Given the description of an element on the screen output the (x, y) to click on. 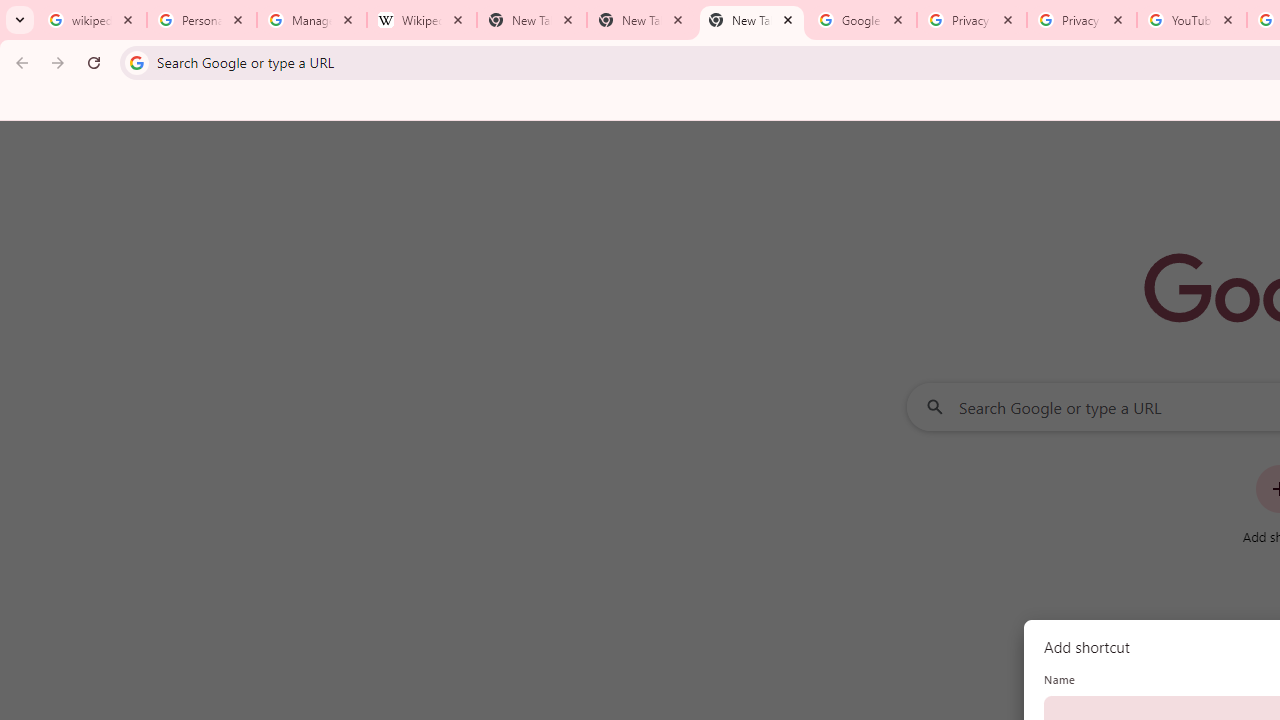
New Tab (752, 20)
YouTube (1191, 20)
Google Drive: Sign-in (861, 20)
New Tab (642, 20)
Wikipedia:Edit requests - Wikipedia (422, 20)
Manage your Location History - Google Search Help (312, 20)
Personalization & Google Search results - Google Search Help (202, 20)
